Given the description of an element on the screen output the (x, y) to click on. 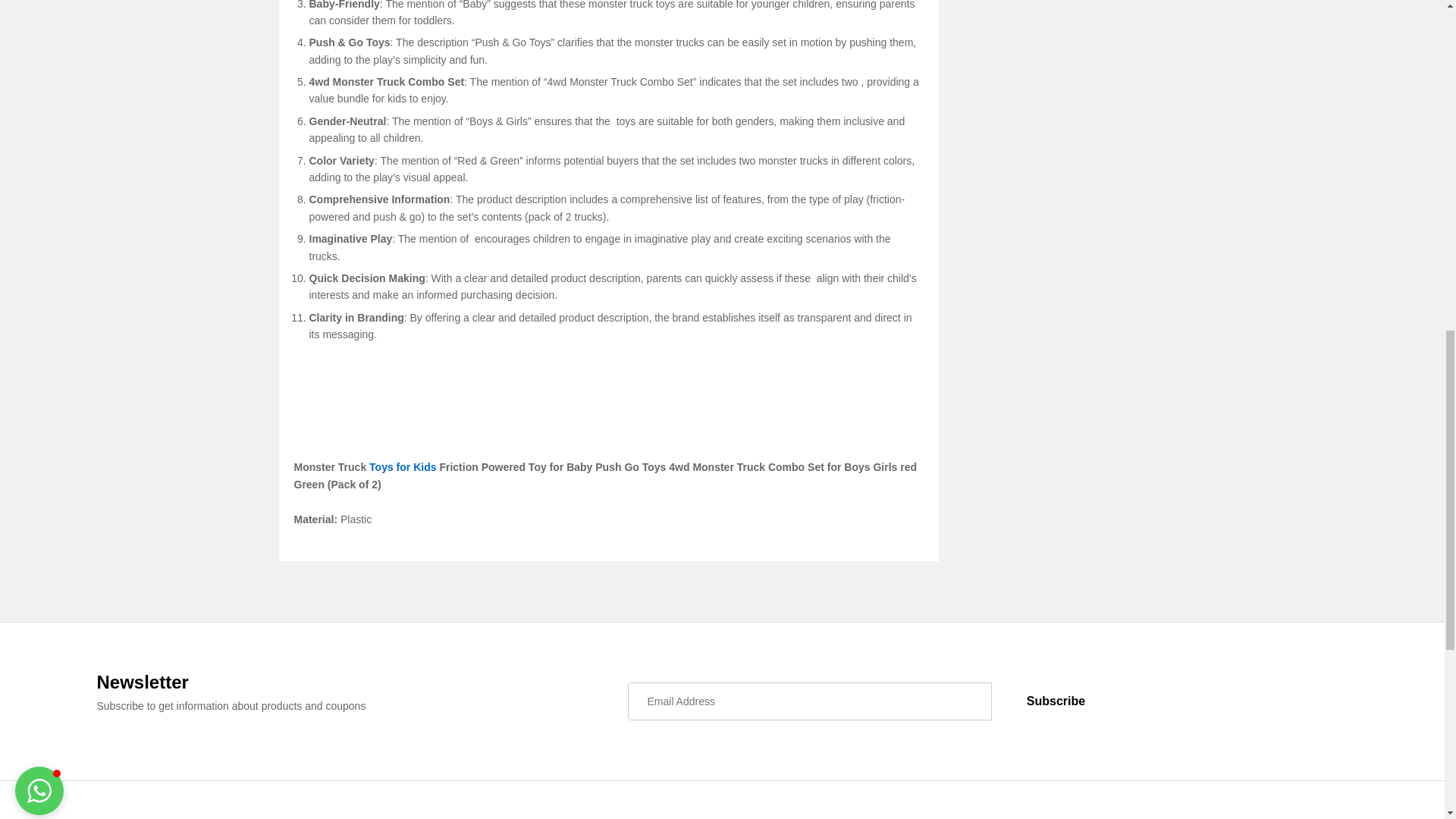
Subscribe (1056, 701)
